Given the description of an element on the screen output the (x, y) to click on. 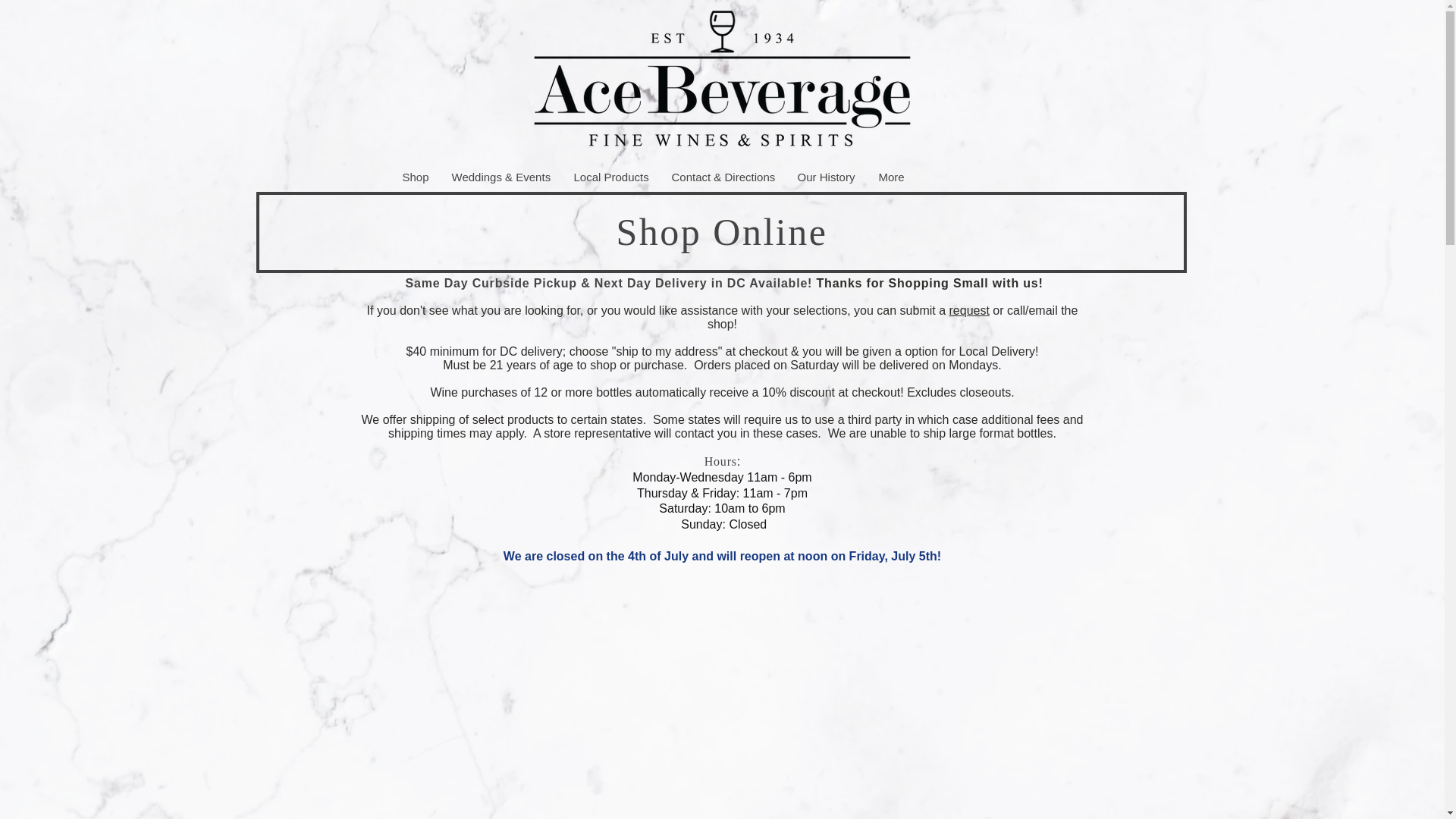
Shop (414, 176)
Local Products (609, 176)
request (969, 309)
Our History (826, 176)
